Given the description of an element on the screen output the (x, y) to click on. 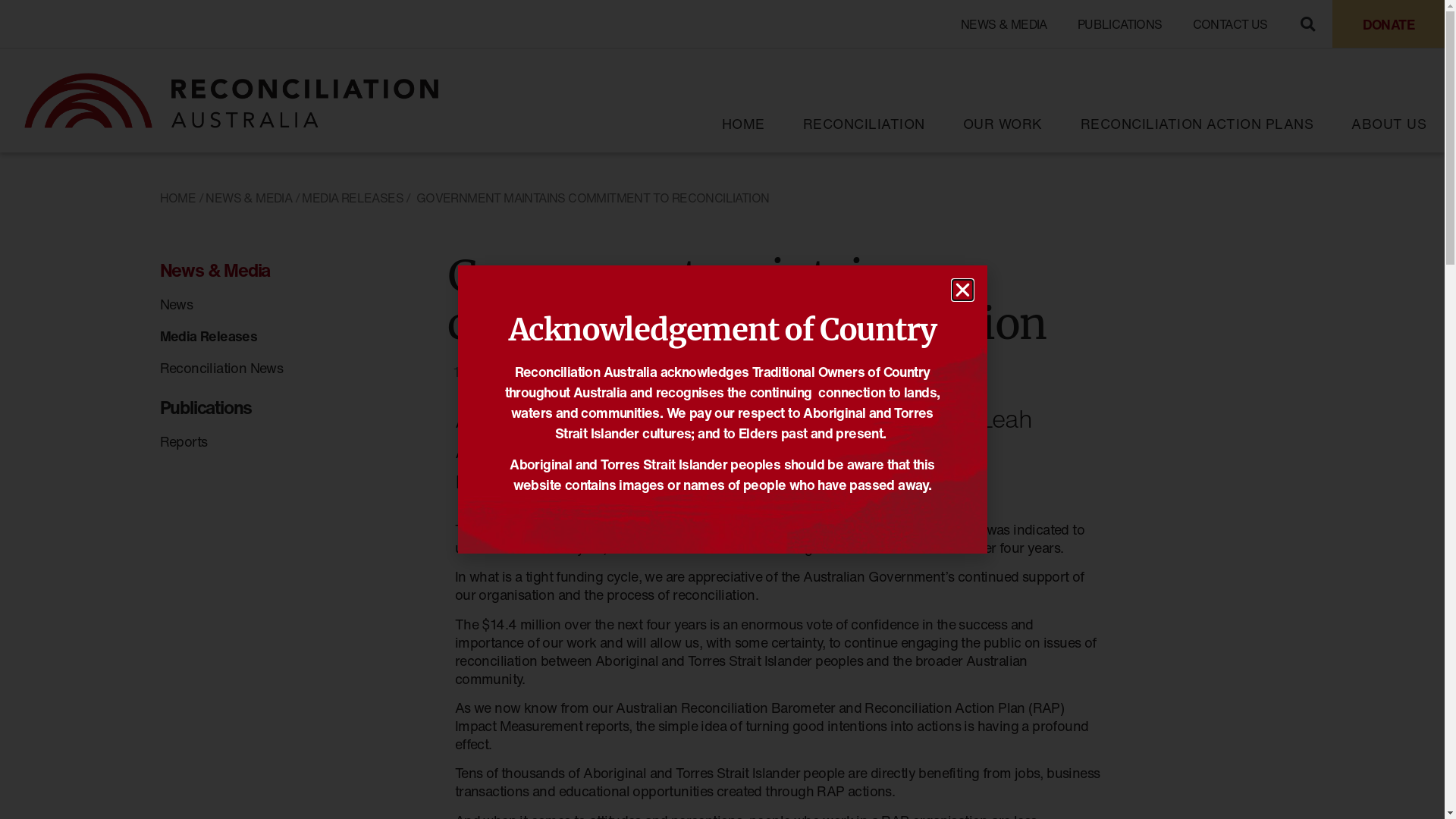
HOME Element type: text (743, 123)
Media Releases Element type: text (208, 335)
HOME Element type: text (177, 197)
Reports Element type: text (183, 441)
Publications Element type: text (278, 407)
News Element type: text (175, 303)
Reconciliation News Element type: text (220, 367)
PUBLICATIONS Element type: text (1119, 23)
DONATE Element type: text (1388, 23)
MEDIA RELEASES Element type: text (352, 197)
News & Media Element type: text (278, 270)
NEWS & MEDIA Element type: text (1003, 23)
RECONCILIATION Element type: text (863, 123)
ABOUT US Element type: text (1388, 123)
RECONCILIATION ACTION PLANS Element type: text (1196, 123)
MEDIA RELEASES Element type: text (622, 371)
NEWS Element type: text (706, 371)
OUR WORK Element type: text (1002, 123)
NEWS & MEDIA Element type: text (248, 197)
CONTACT US Element type: text (1230, 23)
